Given the description of an element on the screen output the (x, y) to click on. 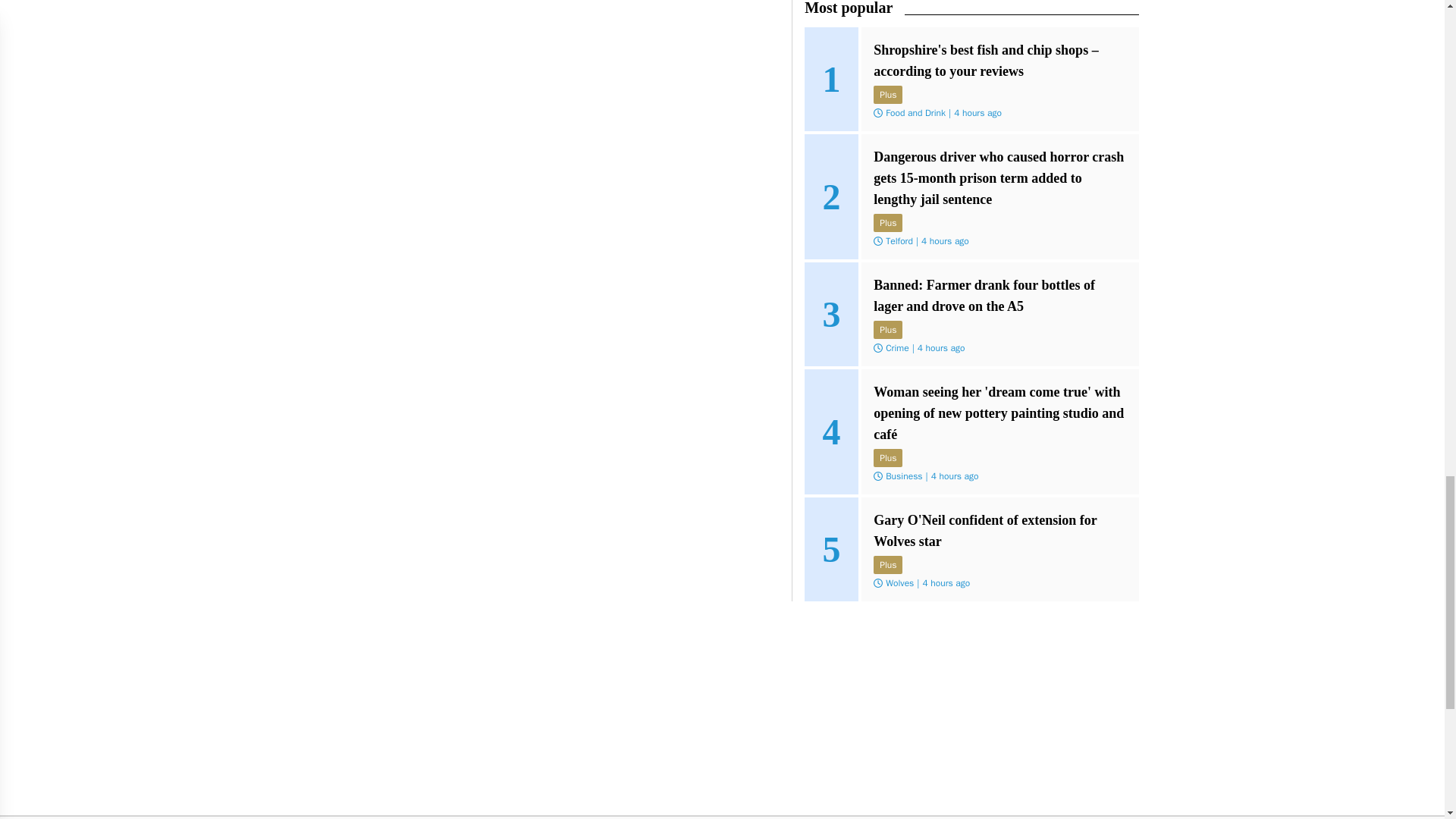
Crime (896, 346)
Telford (898, 241)
Business (903, 476)
Food and Drink (914, 111)
Wolves (899, 582)
